Given the description of an element on the screen output the (x, y) to click on. 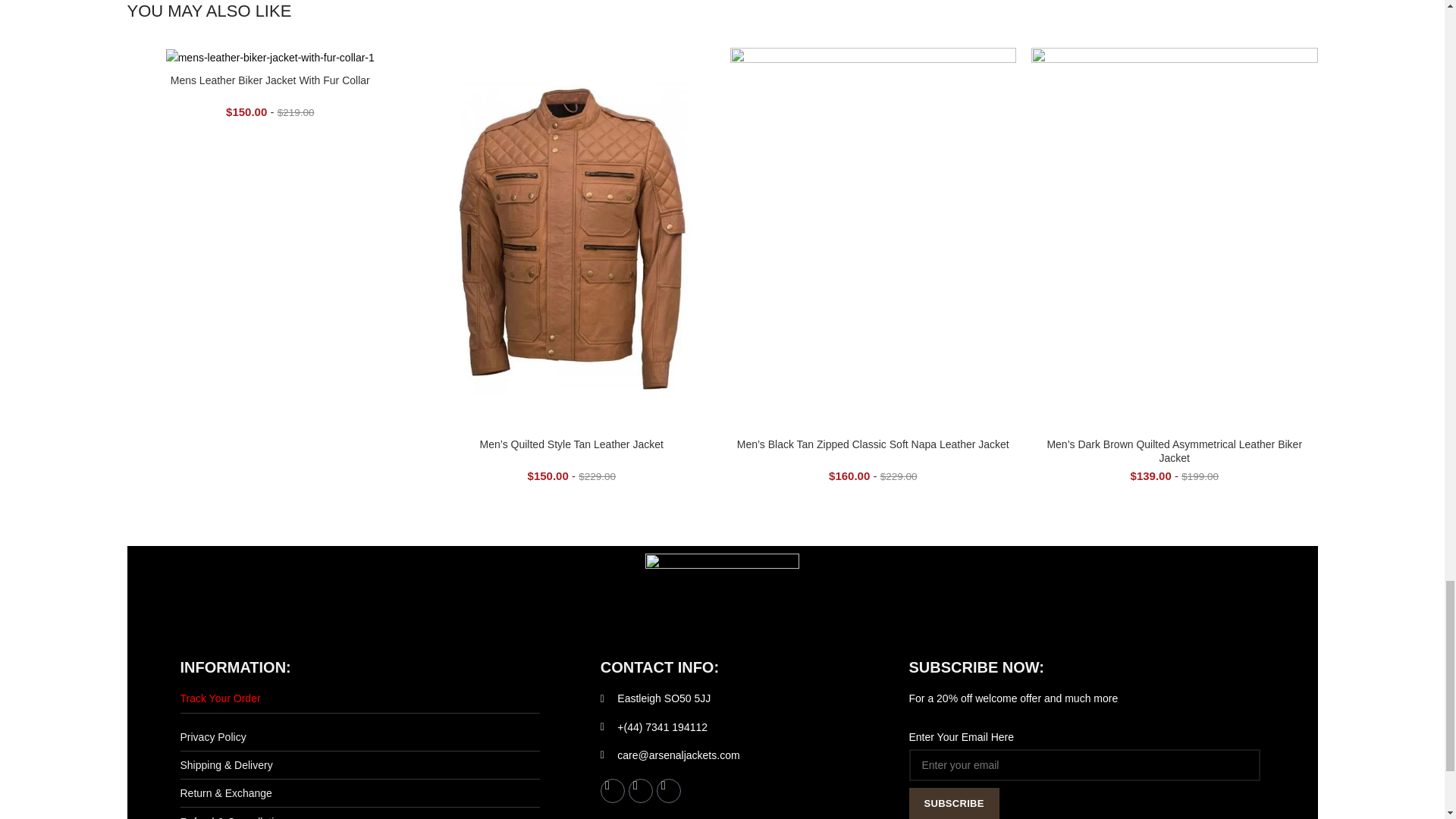
Subscribe (953, 803)
